Given the description of an element on the screen output the (x, y) to click on. 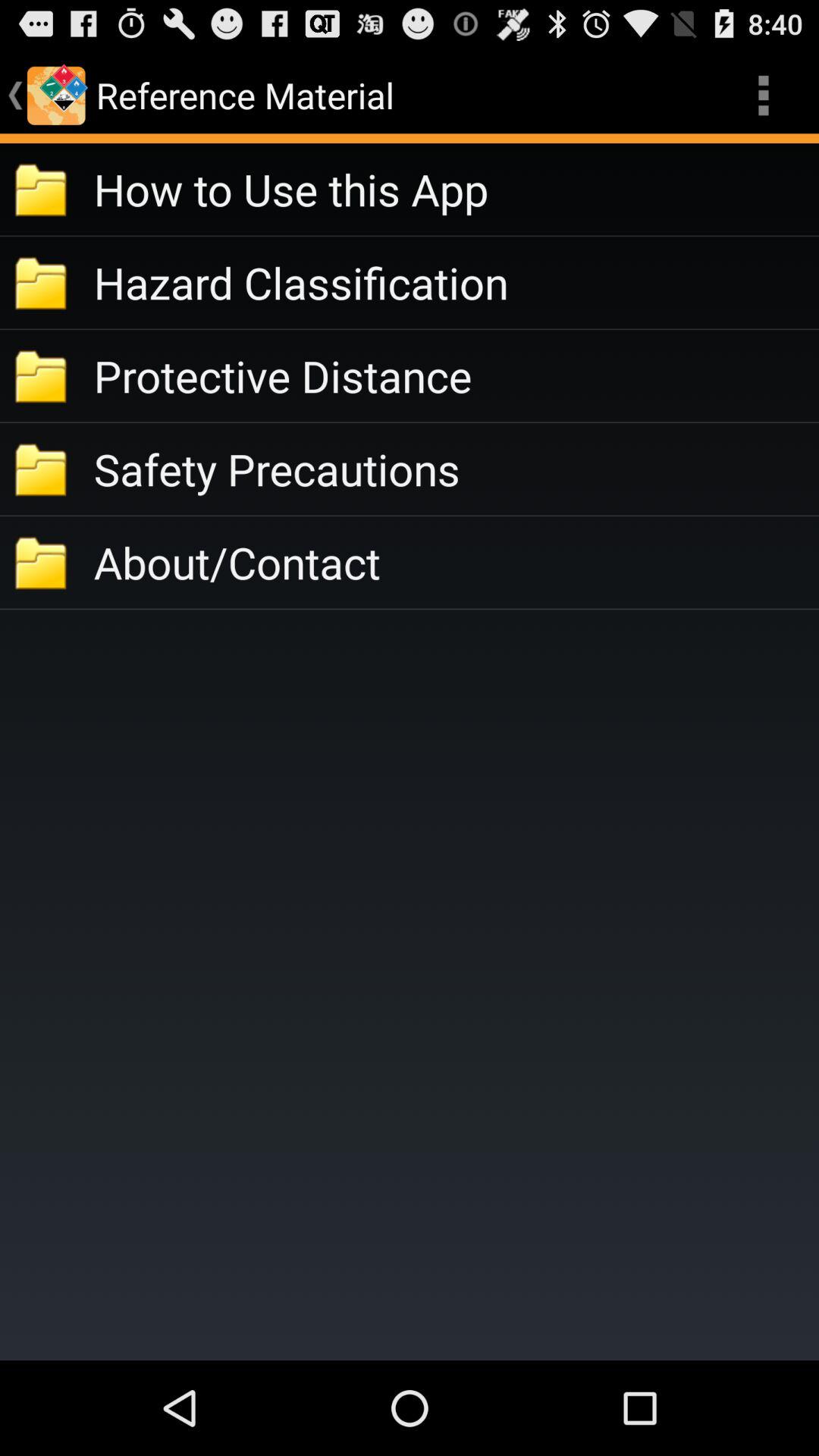
select the about/contact icon (456, 562)
